Given the description of an element on the screen output the (x, y) to click on. 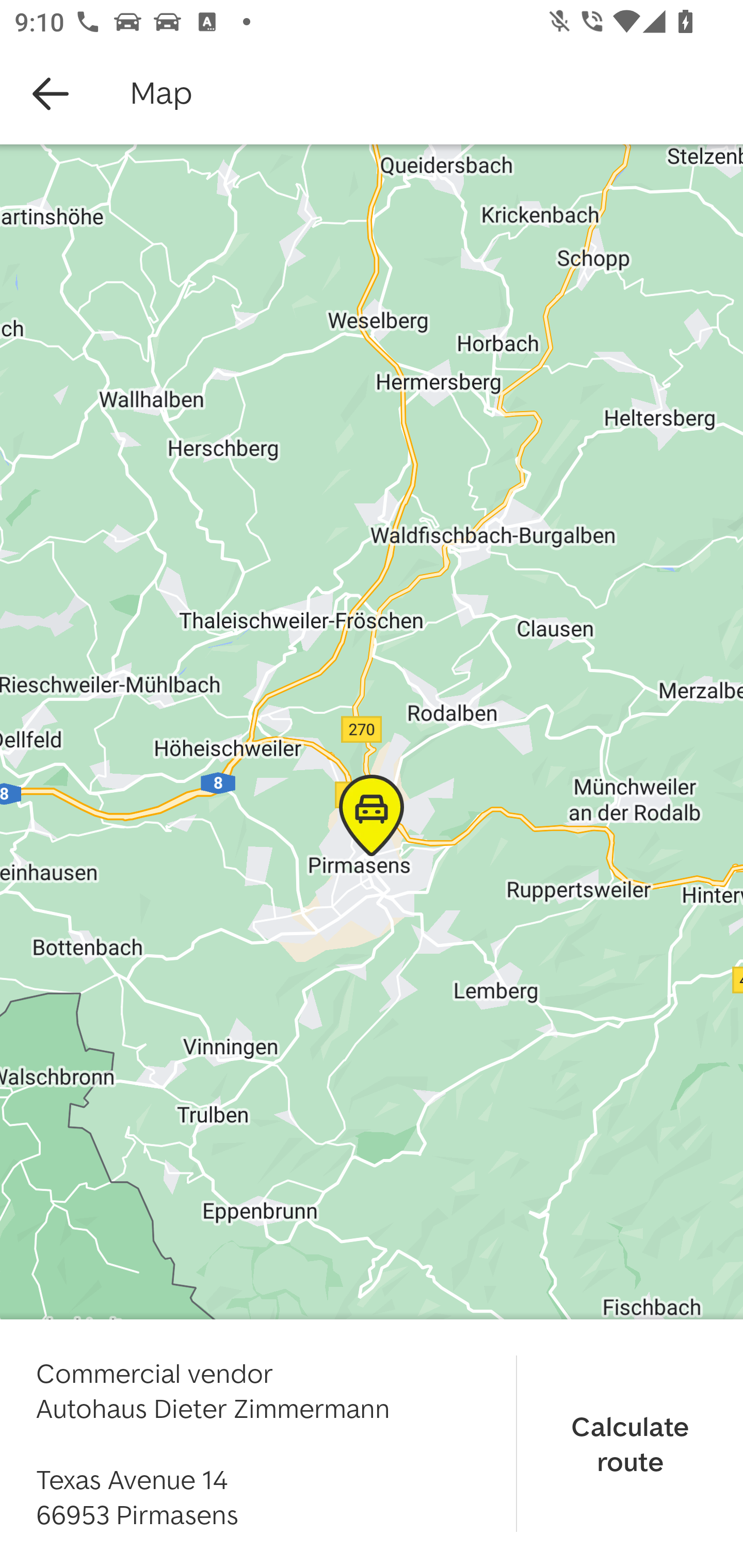
Navigate up (50, 93)
Calculate route (630, 1443)
